Given the description of an element on the screen output the (x, y) to click on. 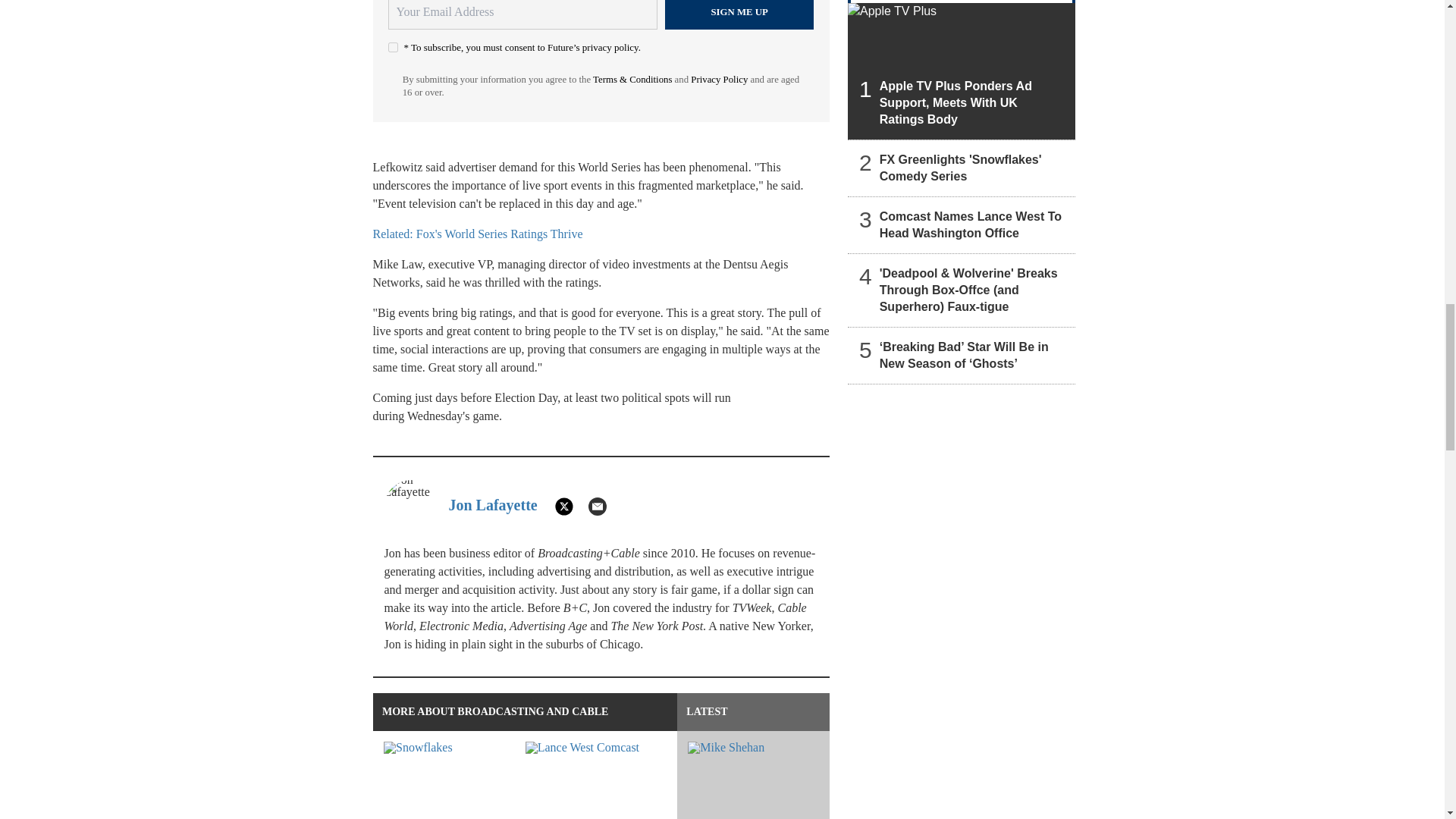
Sign me up (739, 14)
Sign me up (739, 14)
on (392, 47)
Apple TV Plus Ponders Ad Support, Meets With UK Ratings Body (961, 71)
